Given the description of an element on the screen output the (x, y) to click on. 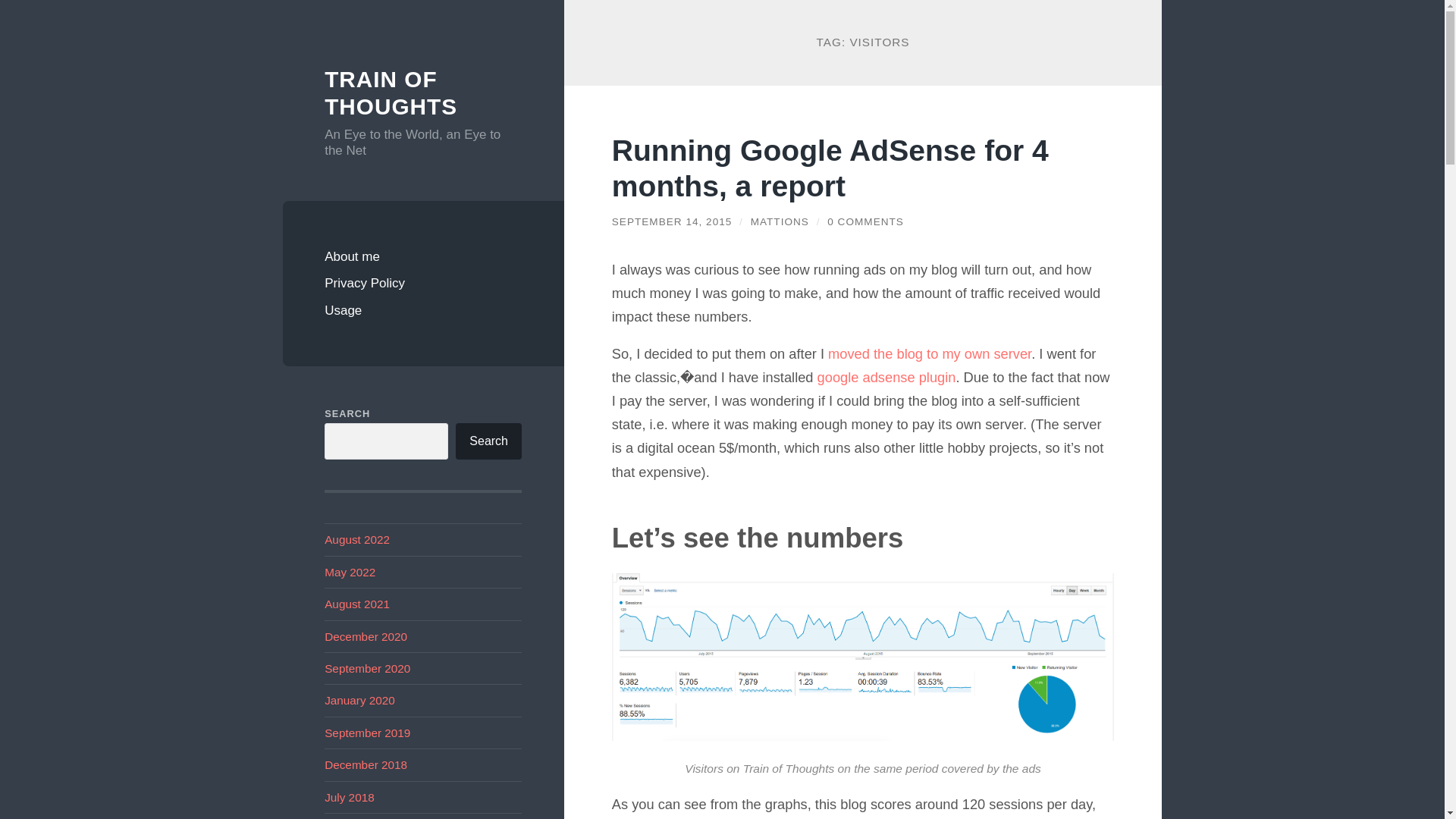
September 2019 (367, 732)
Search (488, 441)
August 2022 (357, 539)
TRAIN OF THOUGHTS (390, 92)
Posts by mattions (780, 221)
About me (422, 256)
Privacy Policy (422, 283)
May 2022 (349, 571)
July 2018 (349, 797)
Usage (422, 310)
